Given the description of an element on the screen output the (x, y) to click on. 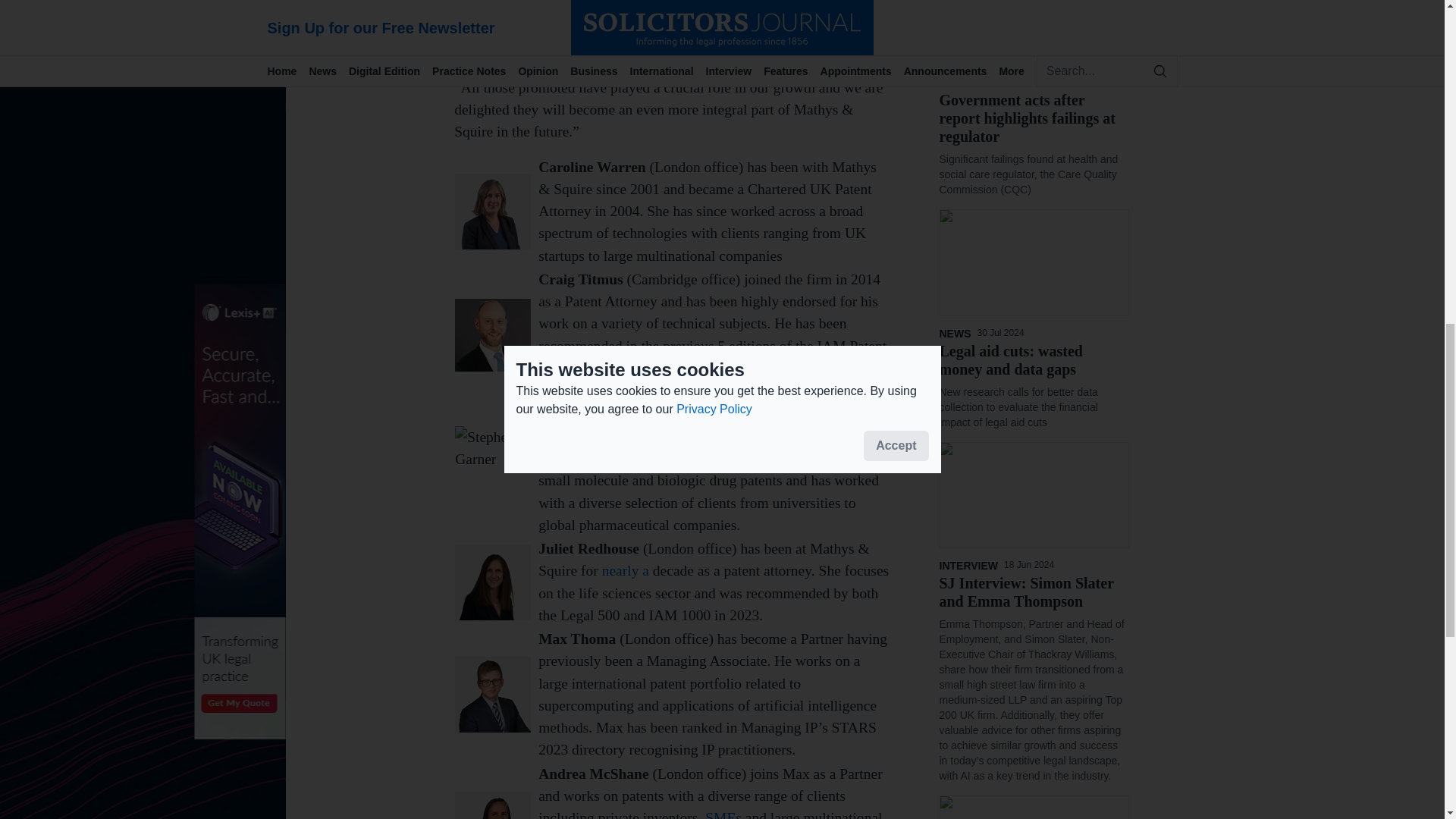
nearly a (625, 570)
SMEs (722, 814)
